Given the description of an element on the screen output the (x, y) to click on. 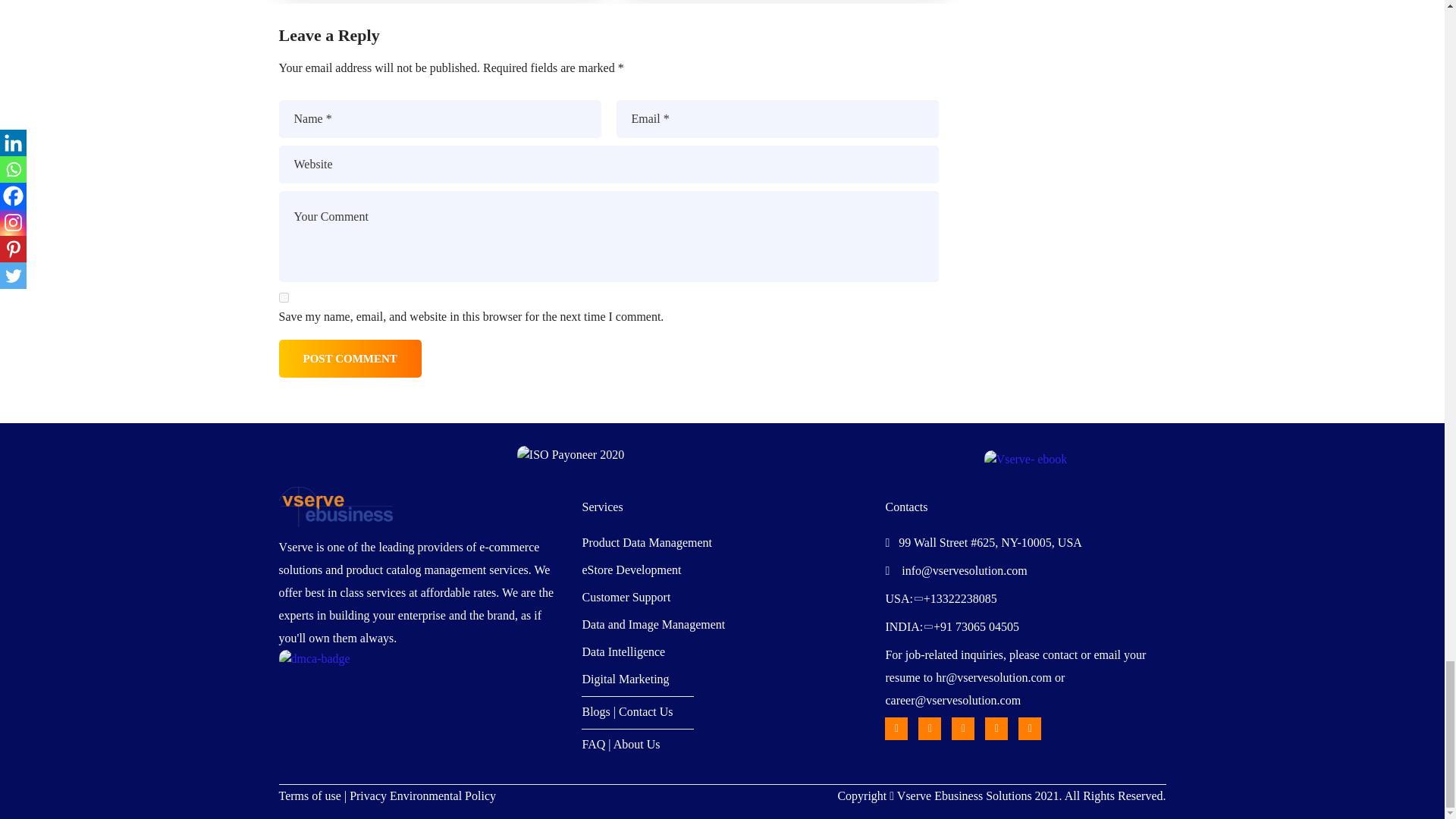
Post Comment (350, 358)
yes (283, 297)
